Given the description of an element on the screen output the (x, y) to click on. 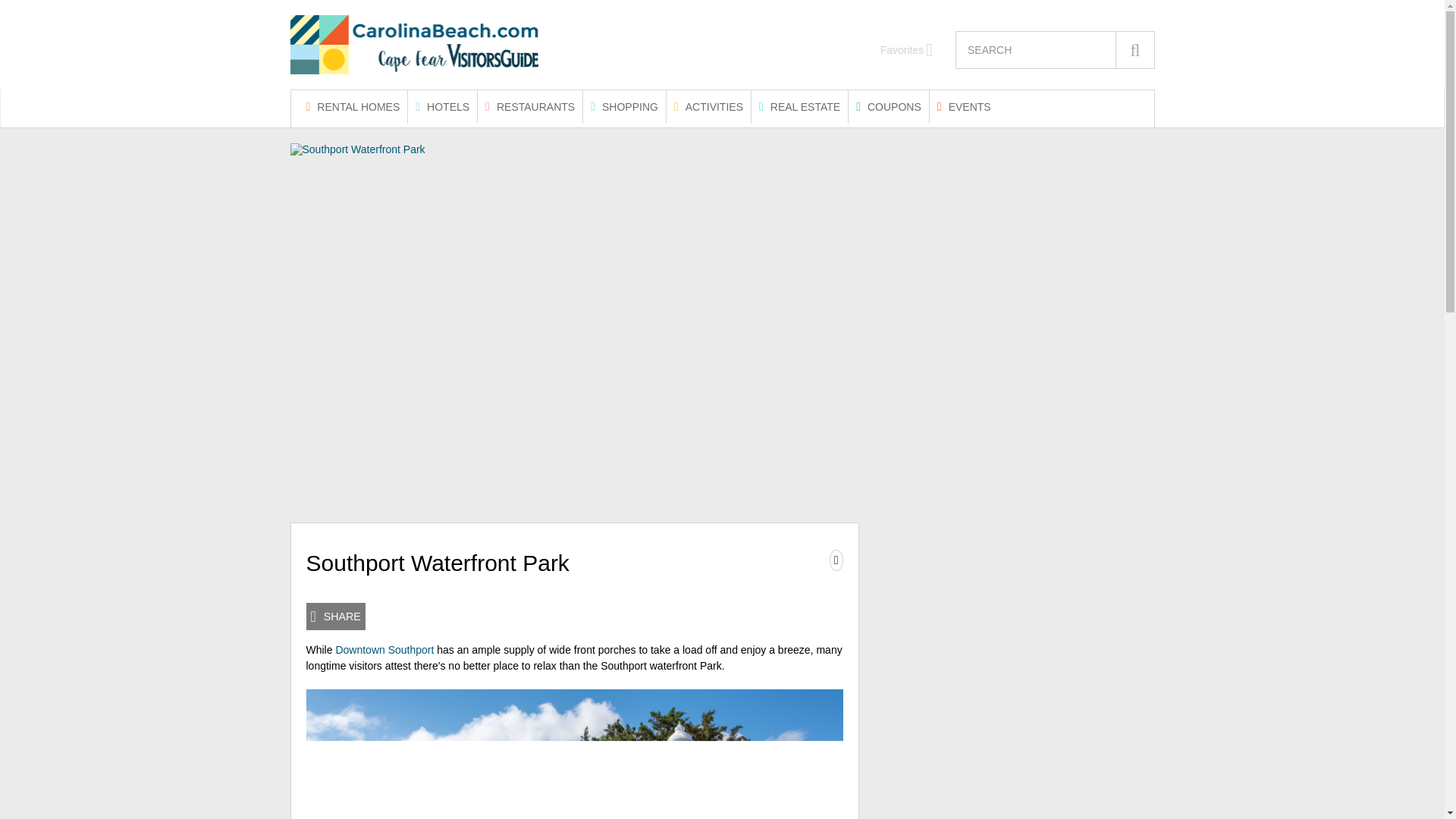
REAL ESTATE (799, 106)
COUPONS (888, 106)
Favorites (906, 49)
EVENTS (964, 106)
HOTELS (442, 106)
Downtown Southport (383, 649)
ACTIVITIES (708, 106)
RESTAURANTS (529, 106)
SHARE (335, 615)
RENTAL HOMES (352, 106)
